Given the description of an element on the screen output the (x, y) to click on. 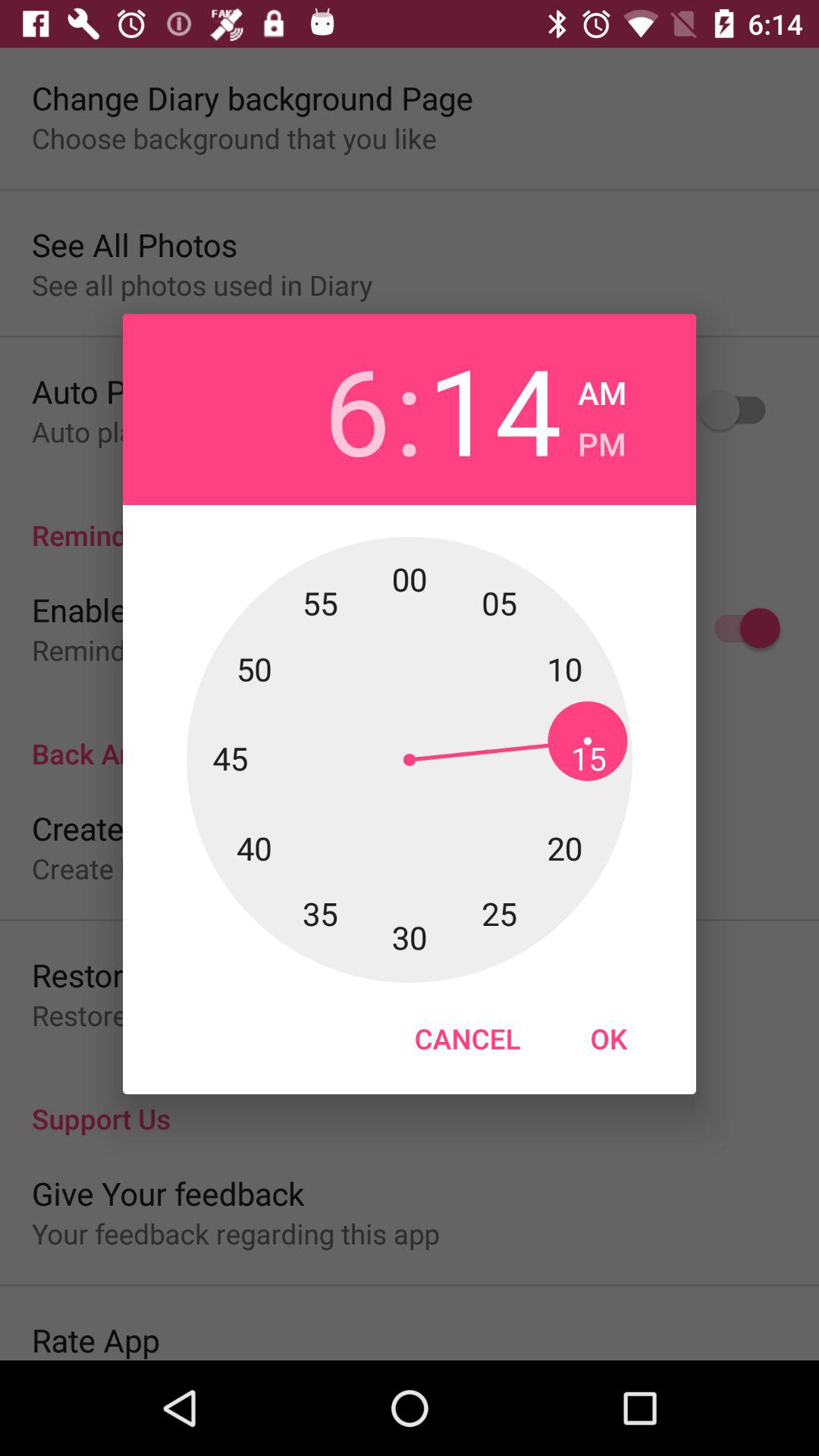
select am (601, 388)
